Given the description of an element on the screen output the (x, y) to click on. 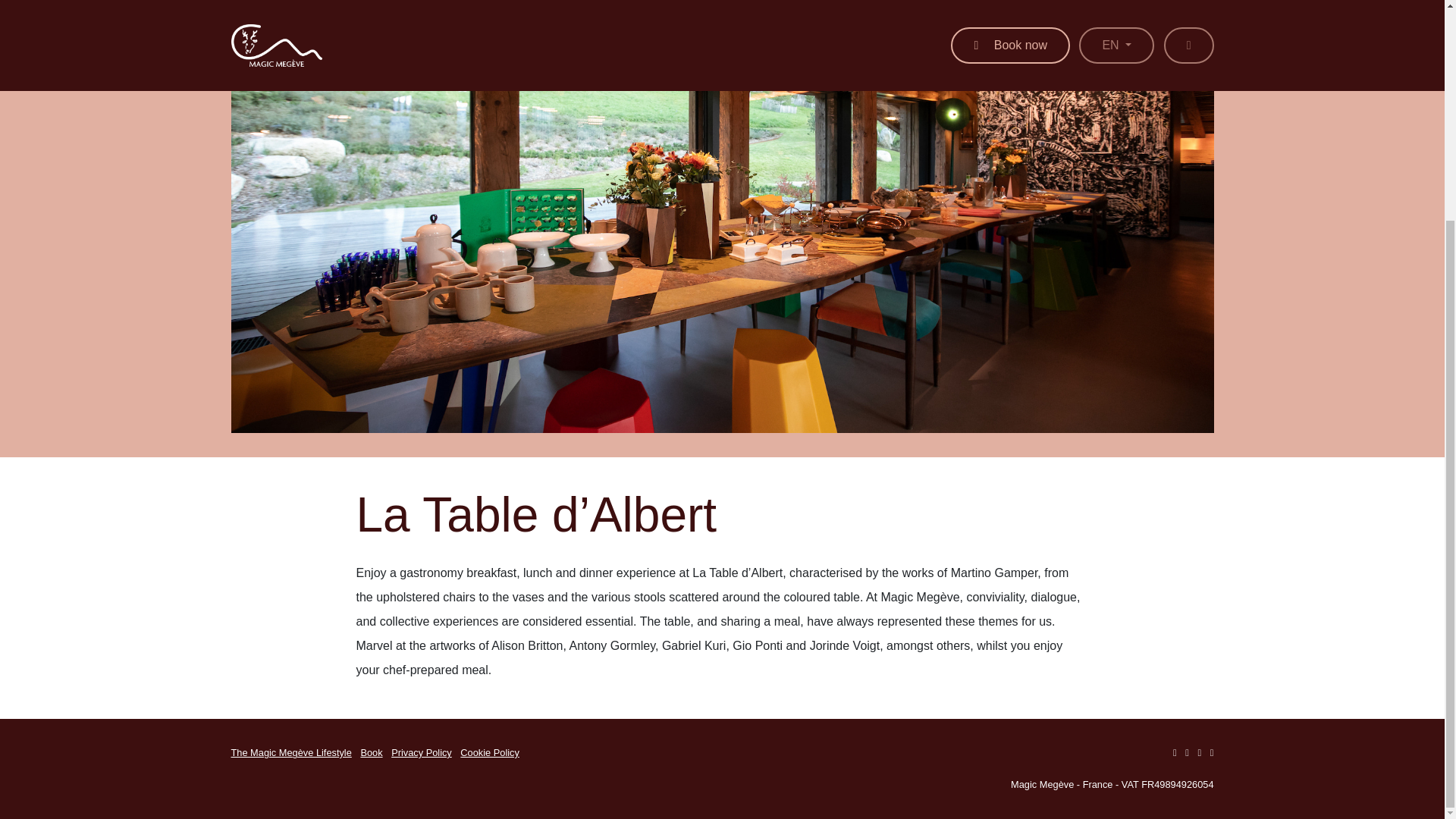
Book (370, 752)
Privacy Policy (421, 752)
Cookie Policy (489, 752)
